Given the description of an element on the screen output the (x, y) to click on. 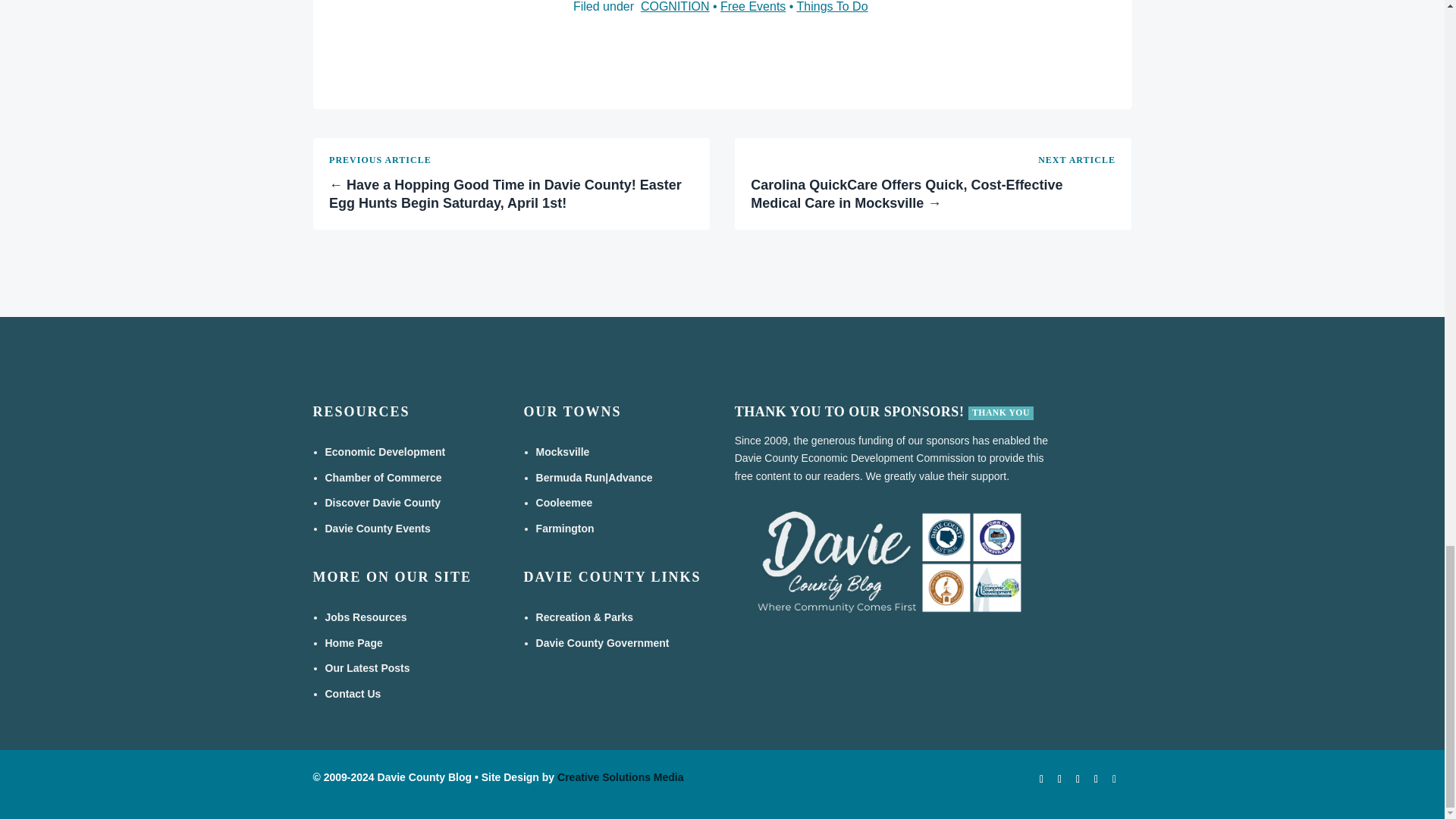
Home Page (352, 643)
Our Latest Posts (366, 667)
Cooleemee (563, 502)
COGNITION (675, 6)
Free Events (753, 6)
Mocksville (562, 451)
Follow on X (1077, 779)
Follow on Youtube (1059, 779)
Contact Us (352, 693)
Things To Do (831, 6)
